Given the description of an element on the screen output the (x, y) to click on. 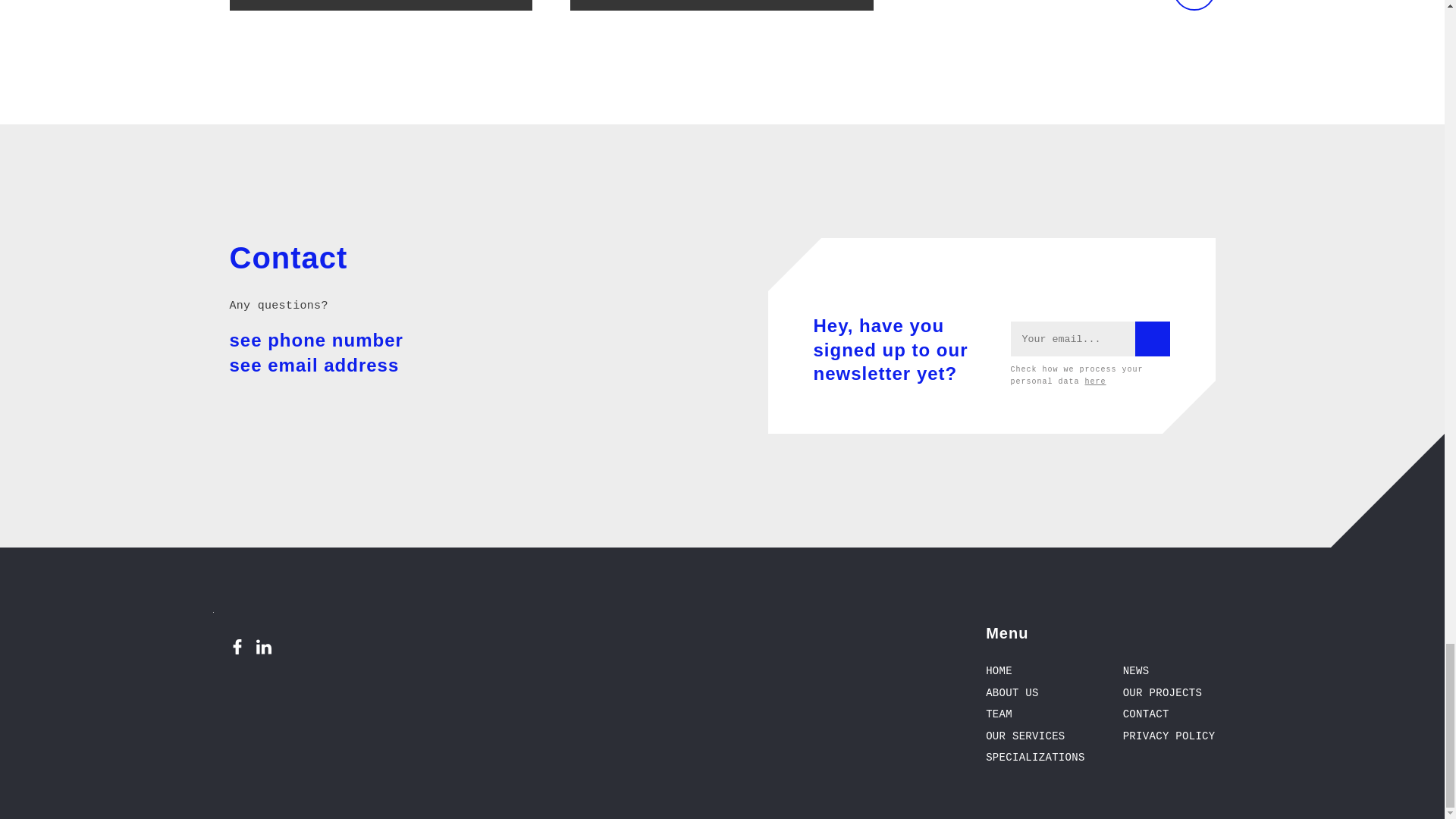
Send (1146, 334)
